Given the description of an element on the screen output the (x, y) to click on. 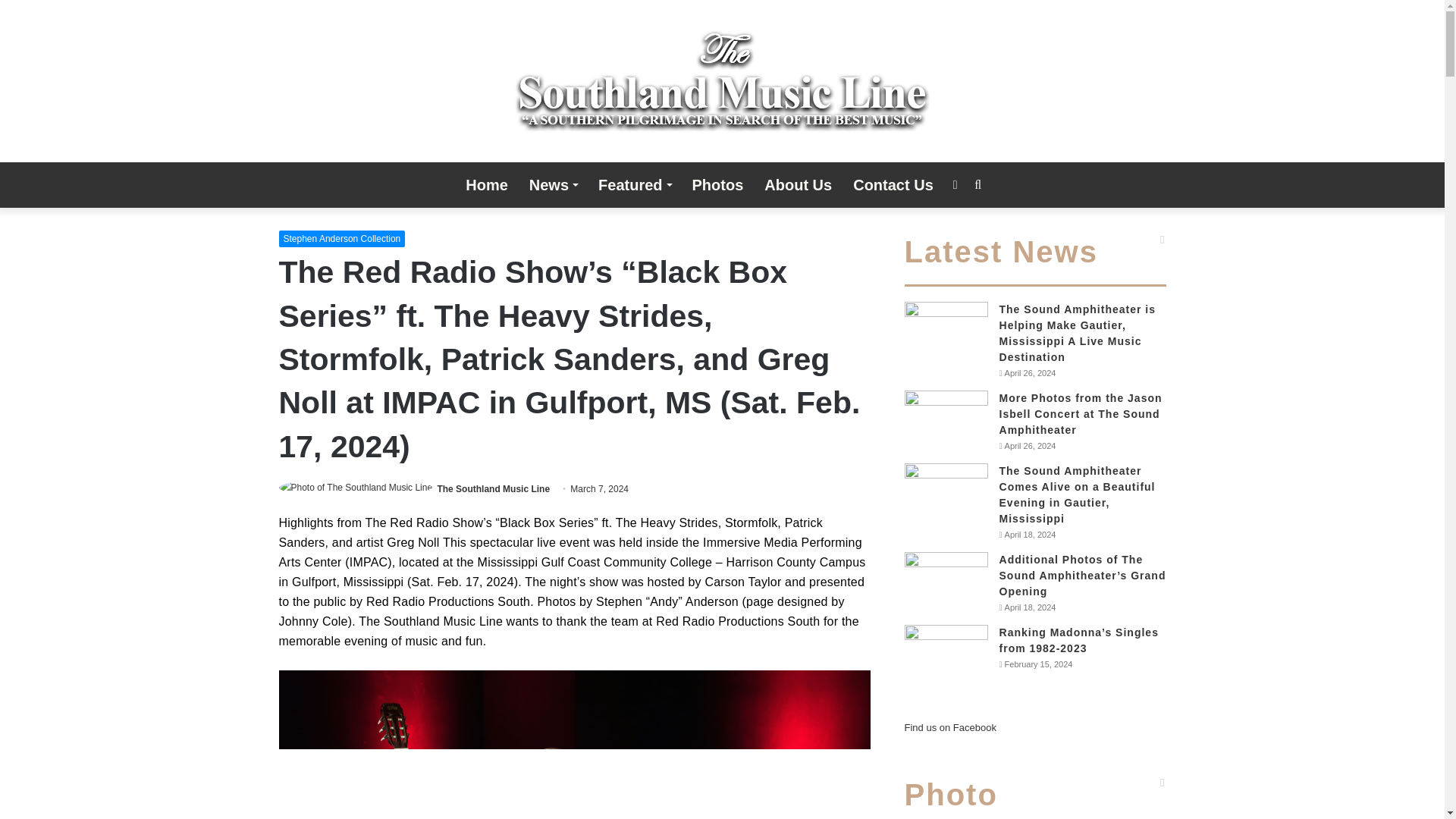
The Southland Music Line (493, 489)
Contact Us (893, 185)
Stephen Anderson Collection (342, 238)
Featured (634, 185)
About Us (798, 185)
Photos (717, 185)
News (553, 185)
The Southland Music Line (721, 80)
Home (486, 185)
The Southland Music Line (493, 489)
